Given the description of an element on the screen output the (x, y) to click on. 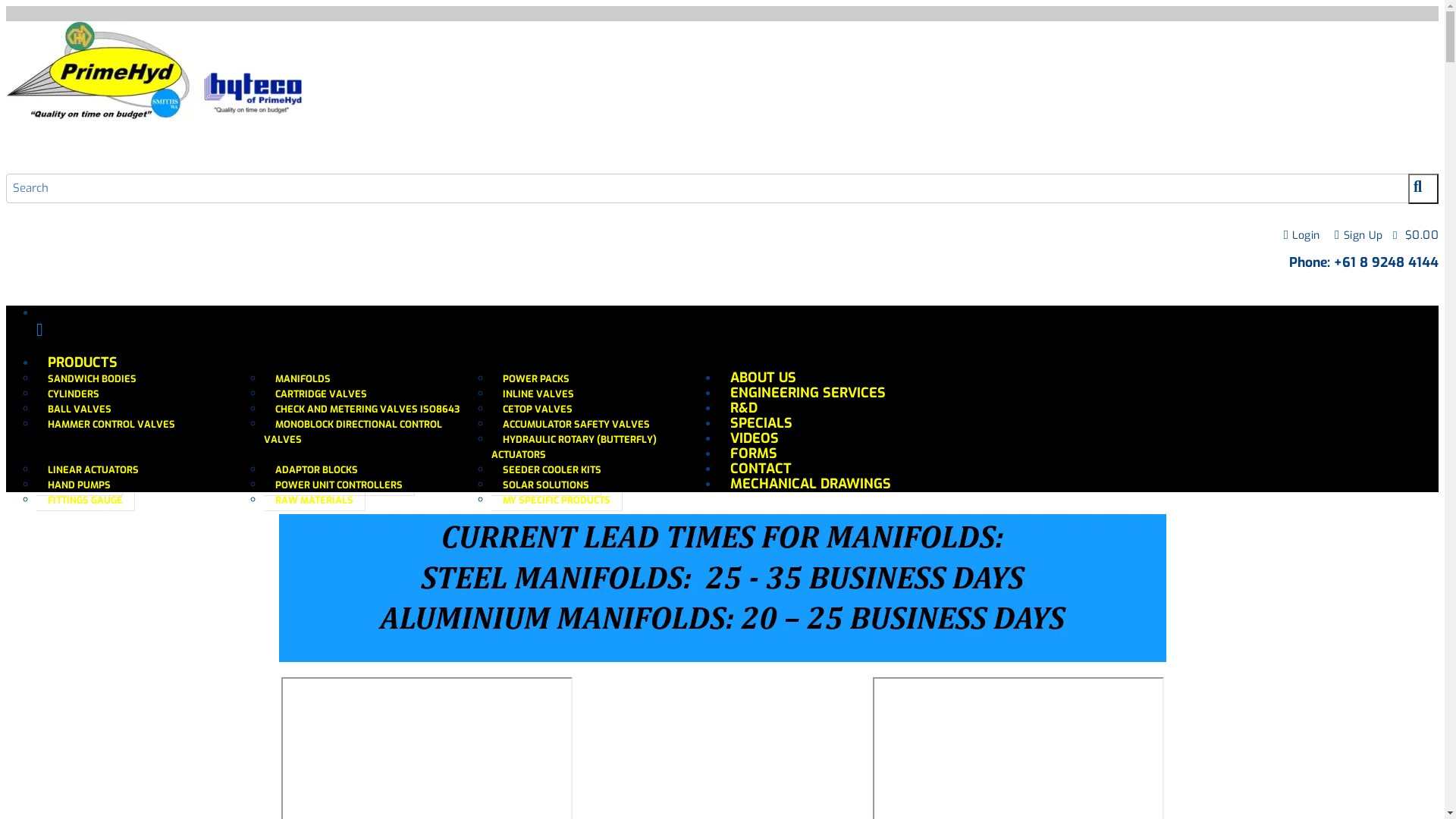
CYLINDERS Element type: text (73, 393)
CONTACT Element type: text (760, 468)
SOLAR SOLUTIONS Element type: text (546, 484)
PRODUCTS Element type: text (82, 362)
POWER UNIT CONTROLLERS Element type: text (338, 484)
ADAPTOR BLOCKS Element type: text (316, 469)
MANIFOLDS Element type: text (302, 378)
SANDWICH BODIES Element type: text (92, 378)
ABOUT US Element type: text (762, 377)
MY SPECIFIC PRODUCTS Element type: text (556, 500)
MONOBLOCK DIRECTIONAL CONTROL VALVES Element type: text (352, 432)
ENGINEERING SERVICES Element type: text (807, 392)
SEEDER COOLER KITS Element type: text (552, 469)
BALL VALVES Element type: text (79, 409)
CARTRIDGE VALVES Element type: text (321, 393)
HAMMER CONTROL VALVES Element type: text (111, 424)
VIDEOS Element type: text (754, 437)
$0.00 Element type: text (1415, 235)
INLINE VALVES Element type: text (538, 393)
> Element type: text (1423, 188)
HYDRAULIC ROTARY (BUTTERFLY) ACTUATORS Element type: text (573, 447)
Login Element type: text (1301, 235)
HOME Element type: text (737, 334)
Phone: +61 8 9248 4144 Element type: text (1363, 262)
FORMS Element type: text (753, 453)
MECHANICAL DRAWINGS Element type: text (810, 483)
SPECIALS Element type: text (760, 422)
RAW MATERIALS Element type: text (314, 500)
HAND PUMPS Element type: text (79, 484)
R&D Element type: text (743, 407)
CETOP VALVES Element type: text (537, 409)
LINEAR ACTUATORS Element type: text (93, 469)
Sign Up Element type: text (1358, 235)
FITTINGS GAUGE Element type: text (85, 500)
CHECK AND METERING VALVES ISO8643 Element type: text (367, 409)
POWER PACKS Element type: text (536, 378)
ACCUMULATOR SAFETY VALVES Element type: text (576, 424)
